Given the description of an element on the screen output the (x, y) to click on. 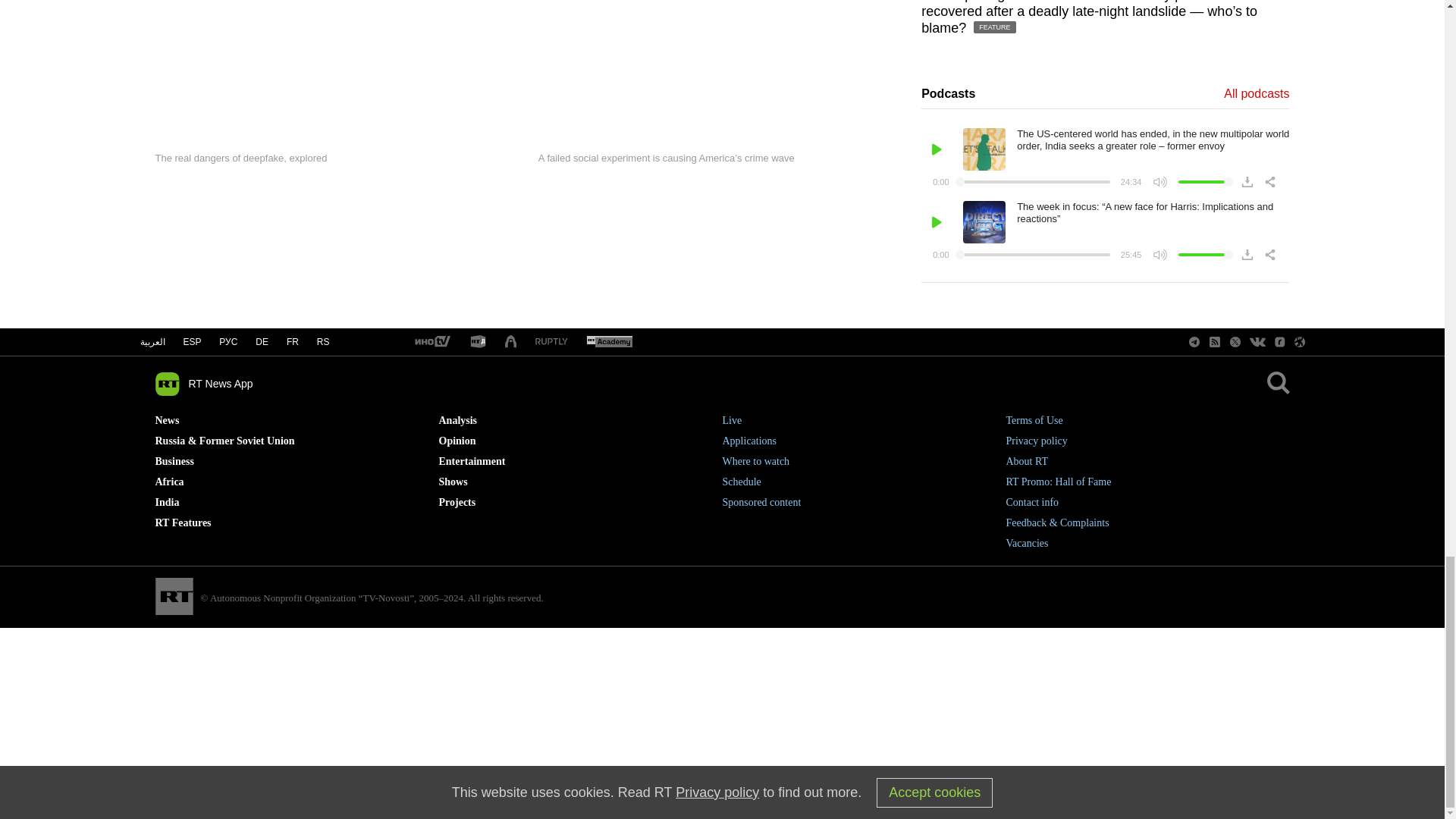
RT  (478, 341)
RT  (608, 341)
RT  (551, 342)
RT  (431, 341)
